Given the description of an element on the screen output the (x, y) to click on. 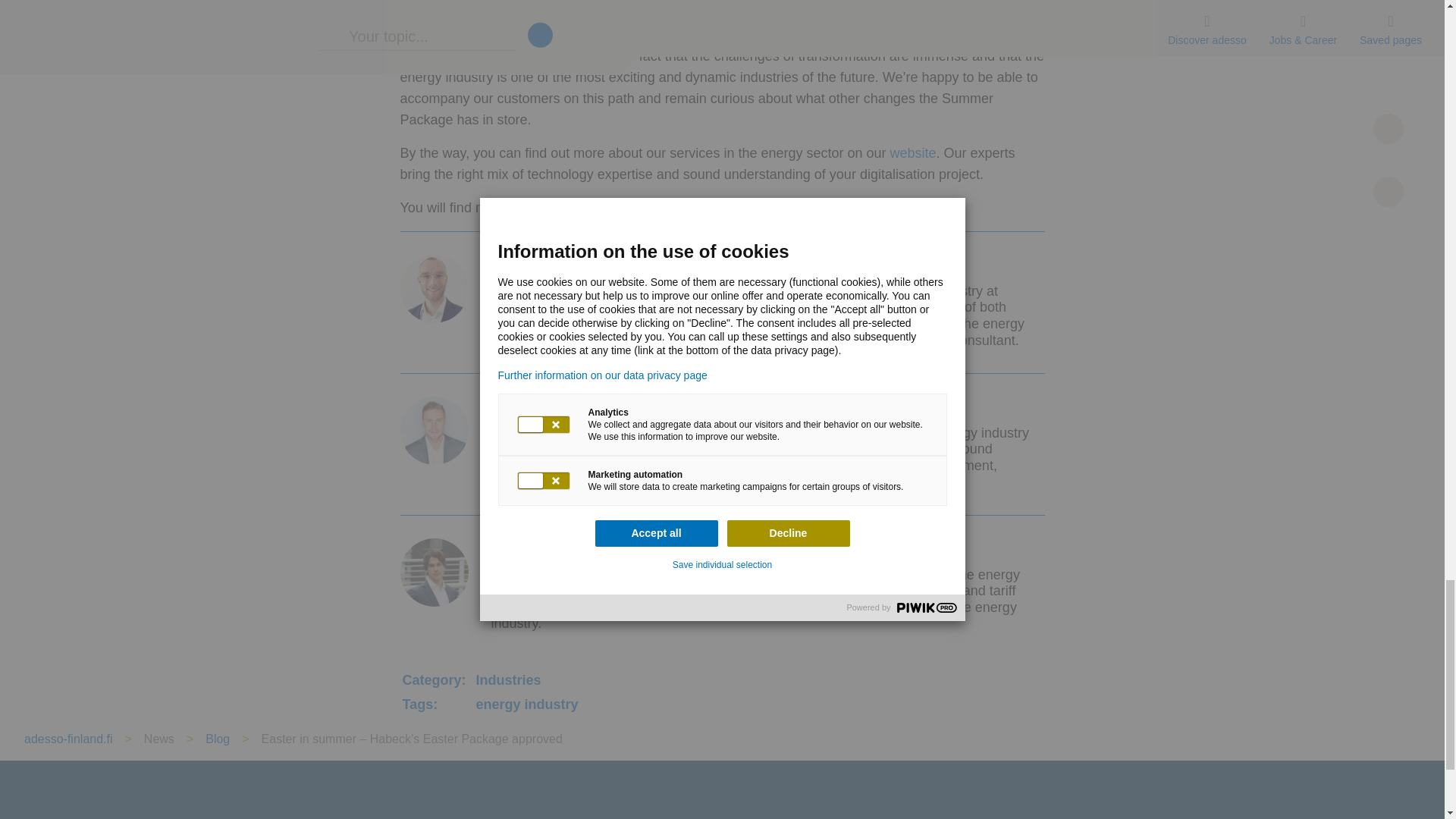
Picture Stephen Lorenzen (434, 430)
Picture Lars  Zimmermann  (434, 572)
